Given the description of an element on the screen output the (x, y) to click on. 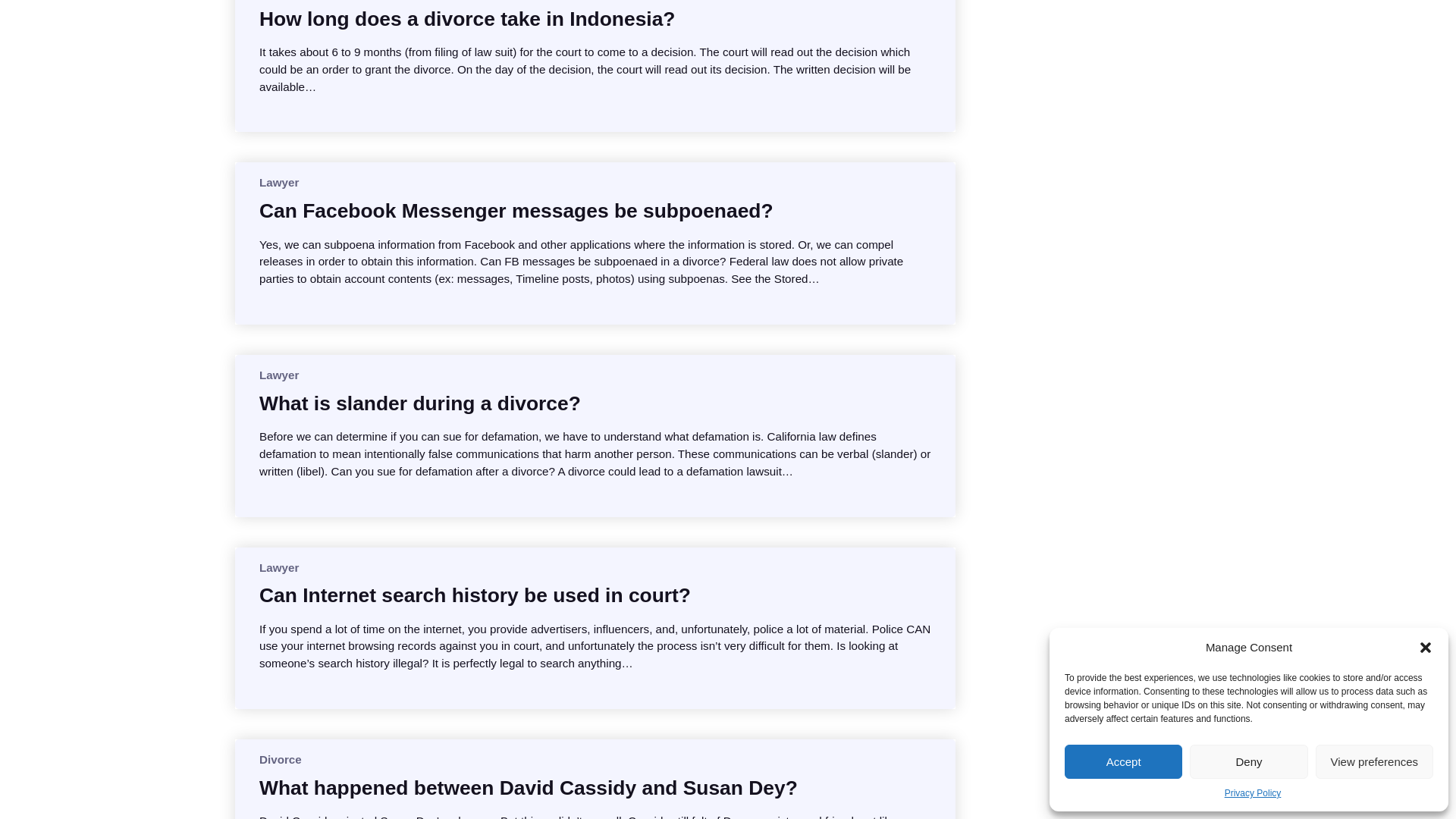
Can Facebook Messenger messages be subpoenaed? (516, 210)
How long does a divorce take in Indonesia? (467, 18)
Lawyer (278, 182)
